Given the description of an element on the screen output the (x, y) to click on. 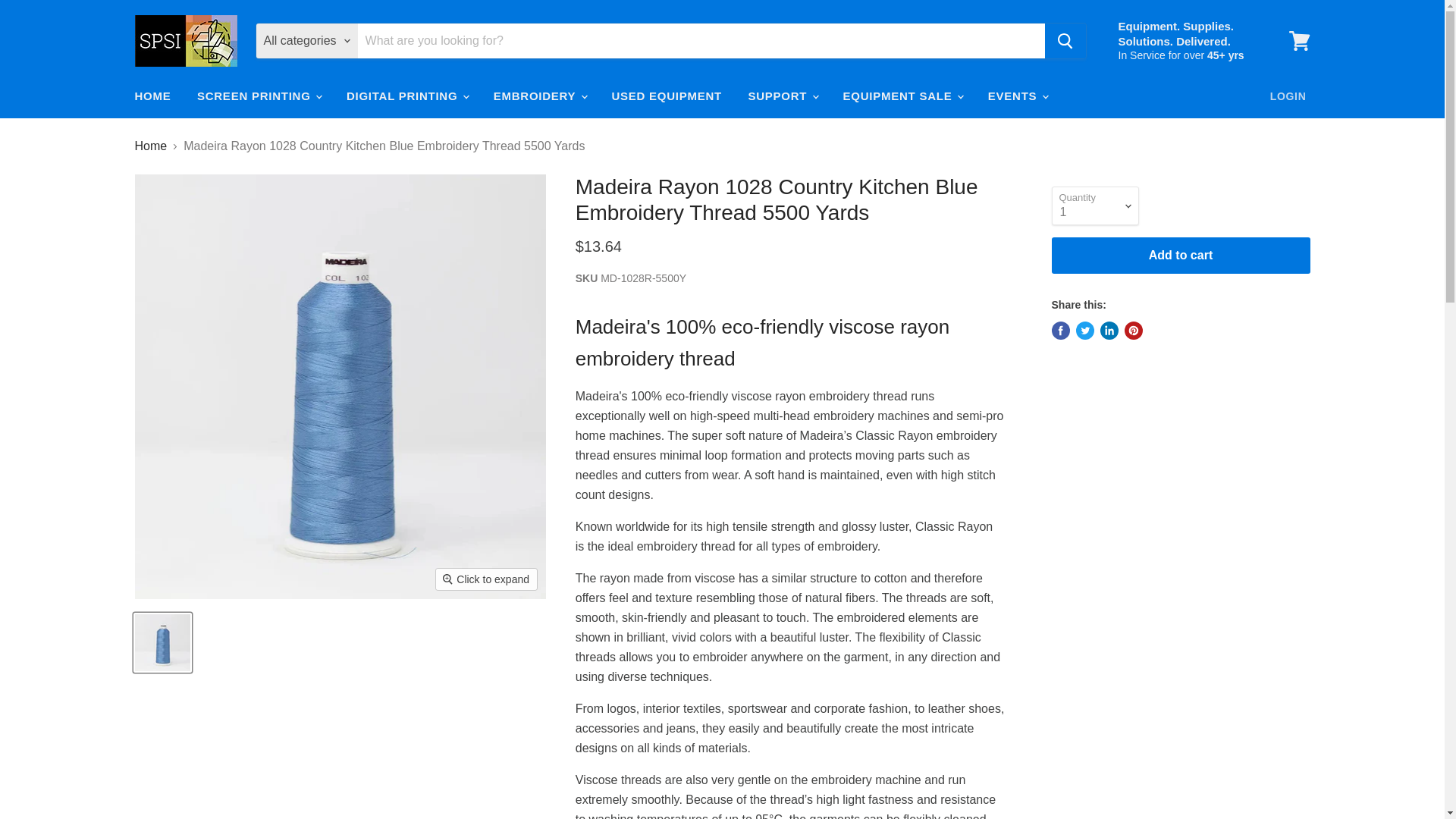
View cart (1299, 40)
HOME (152, 96)
SCREEN PRINTING (258, 96)
